Given the description of an element on the screen output the (x, y) to click on. 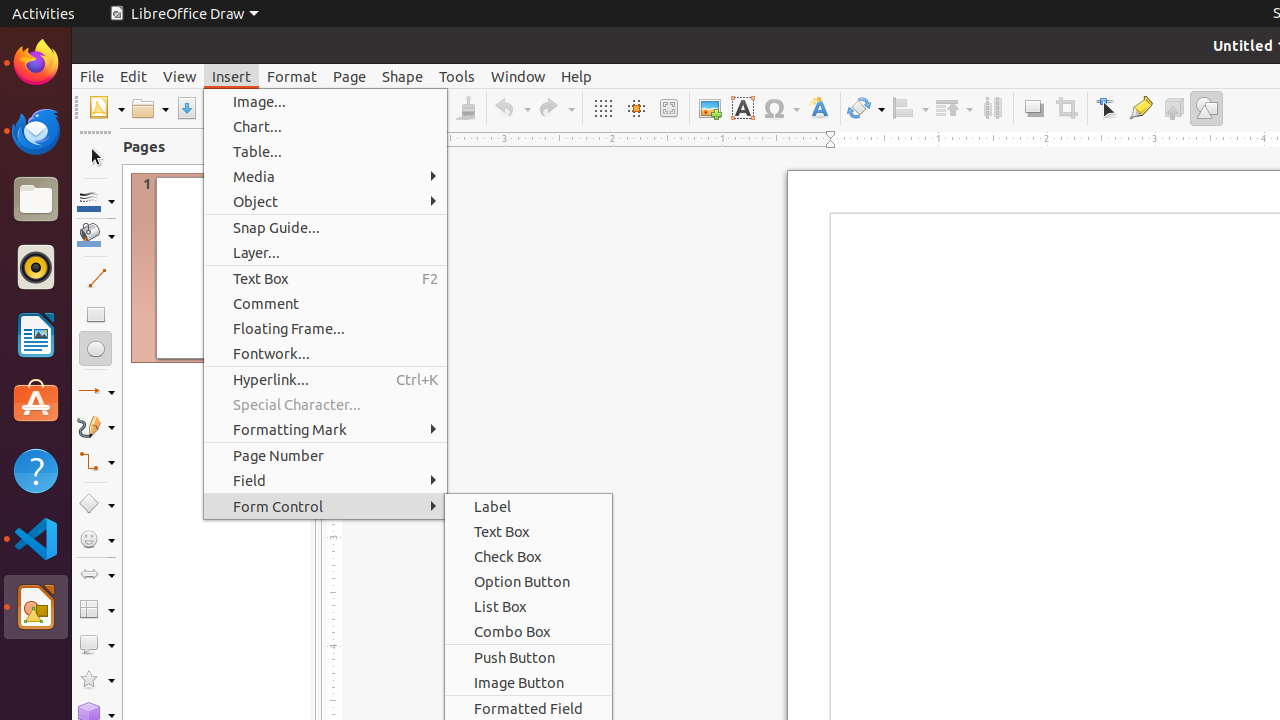
Comment Element type: menu-item (325, 303)
Option Button Element type: check-menu-item (528, 581)
New Element type: push-button (106, 108)
Image Element type: push-button (709, 108)
Align Element type: push-button (910, 108)
